Given the description of an element on the screen output the (x, y) to click on. 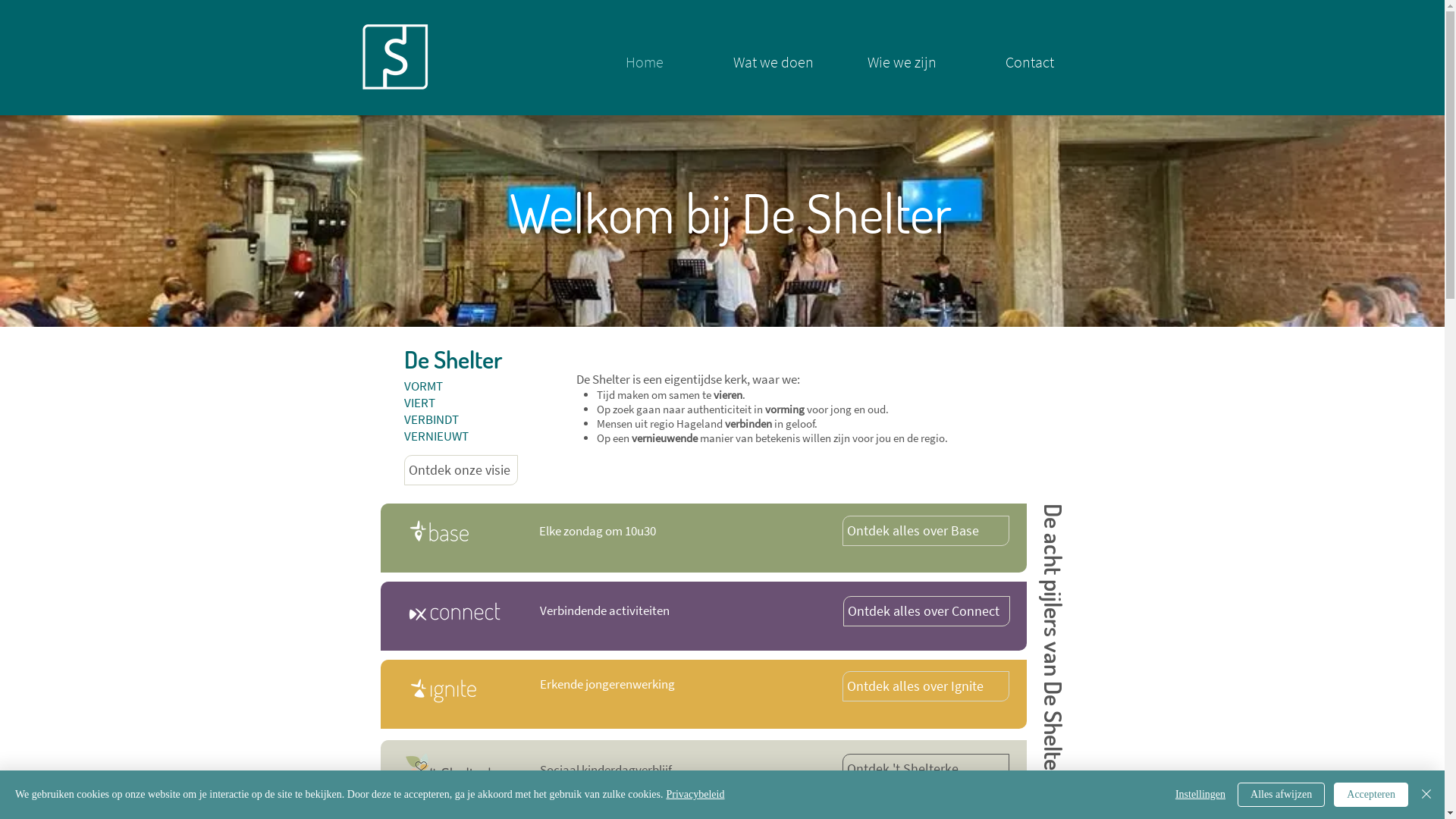
Accepteren Element type: text (1370, 794)
Ontdek alles over Base Element type: text (924, 530)
Ontdek onze visie Element type: text (460, 470)
Ontdek alles over Ignite Element type: text (924, 686)
Privacybeleid Element type: text (694, 794)
Ontdek 't Shelterke Element type: text (924, 768)
Ontdek alles over Connect Element type: text (926, 611)
Contact Element type: text (1030, 61)
Alles afwijzen Element type: text (1280, 794)
Home Element type: text (643, 61)
